Given the description of an element on the screen output the (x, y) to click on. 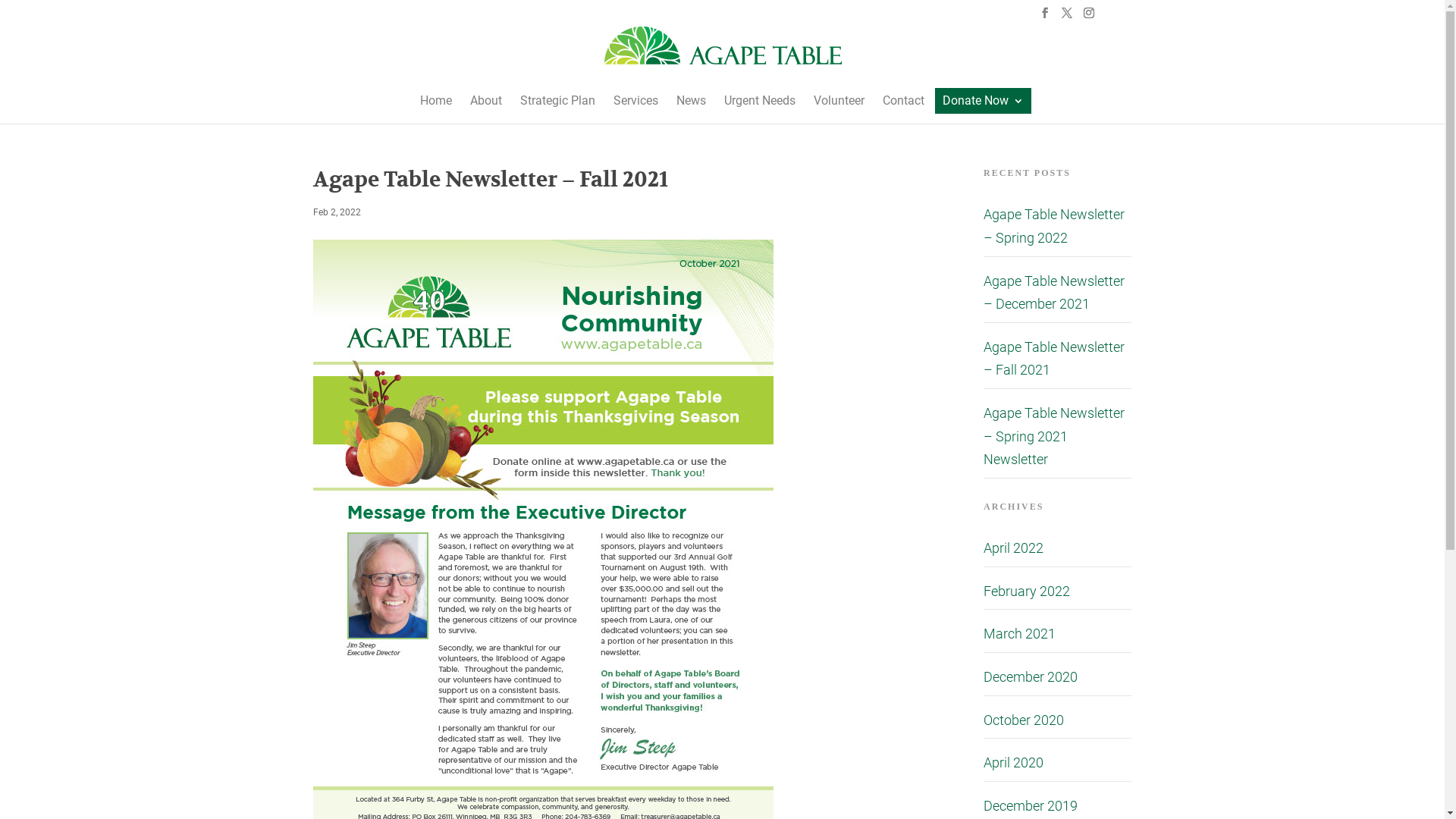
October 2020 Element type: text (1023, 719)
About Element type: text (486, 100)
Urgent Needs Element type: text (758, 100)
December 2020 Element type: text (1030, 676)
Strategic Plan Element type: text (557, 100)
Contact Element type: text (903, 100)
April 2020 Element type: text (1013, 762)
Services Element type: text (634, 100)
February 2022 Element type: text (1026, 591)
Home Element type: text (435, 100)
April 2022 Element type: text (1013, 547)
Donate Now Element type: text (981, 100)
December 2019 Element type: text (1030, 805)
March 2021 Element type: text (1019, 633)
News Element type: text (691, 100)
Volunteer Element type: text (837, 100)
